Given the description of an element on the screen output the (x, y) to click on. 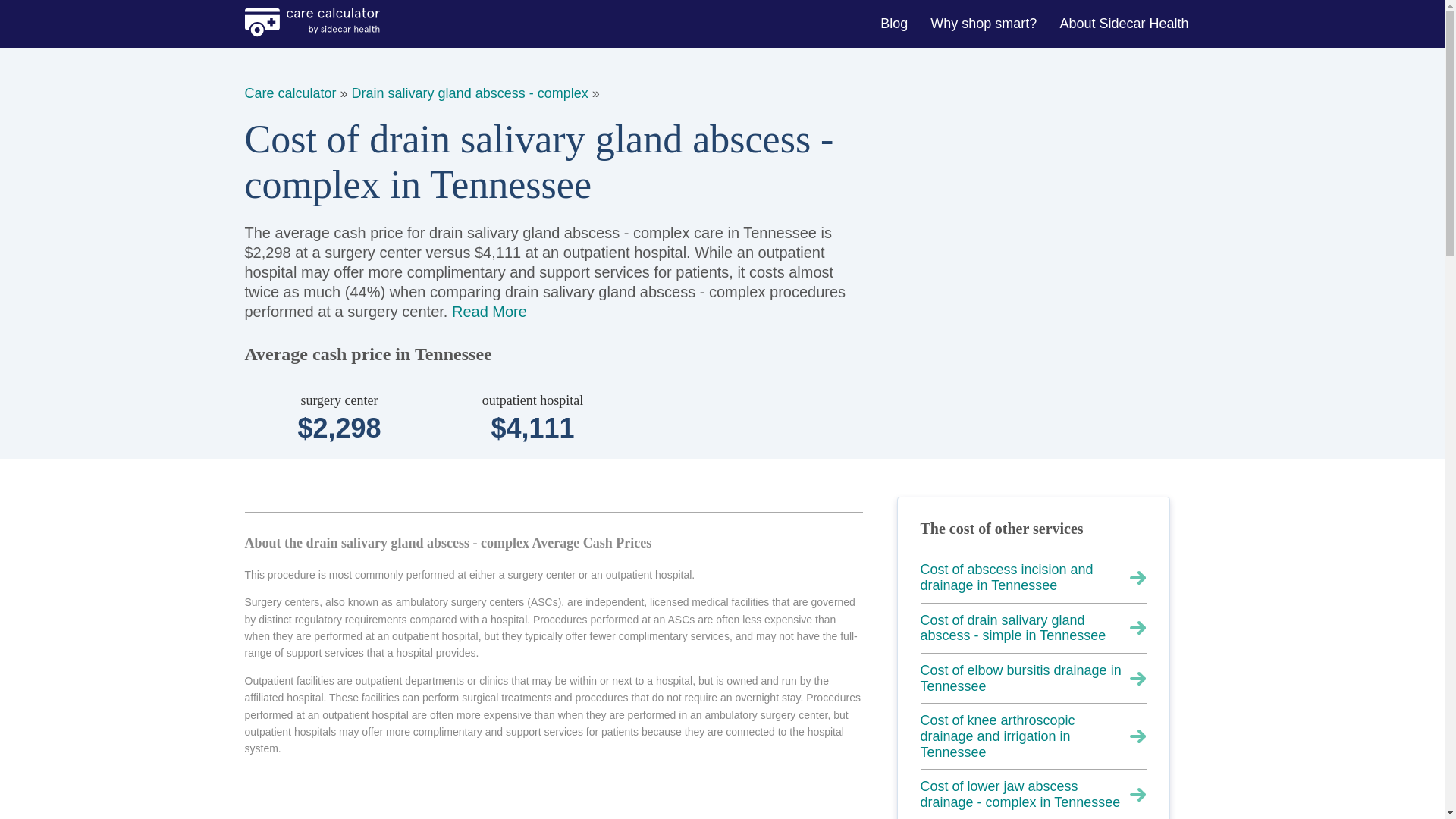
Cost of lower jaw abscess drainage - complex in Tennessee (1033, 794)
About Sidecar Health (1125, 23)
Drain salivary gland abscess - complex (470, 92)
Cost of elbow bursitis drainage in Tennessee (1033, 678)
Cost of abscess incision and drainage in Tennessee (1033, 577)
Read More (489, 311)
Cost of drain salivary gland abscess - simple in Tennessee (1033, 628)
Why shop smart? (985, 23)
Care calculator (290, 92)
Blog (895, 23)
